Given the description of an element on the screen output the (x, y) to click on. 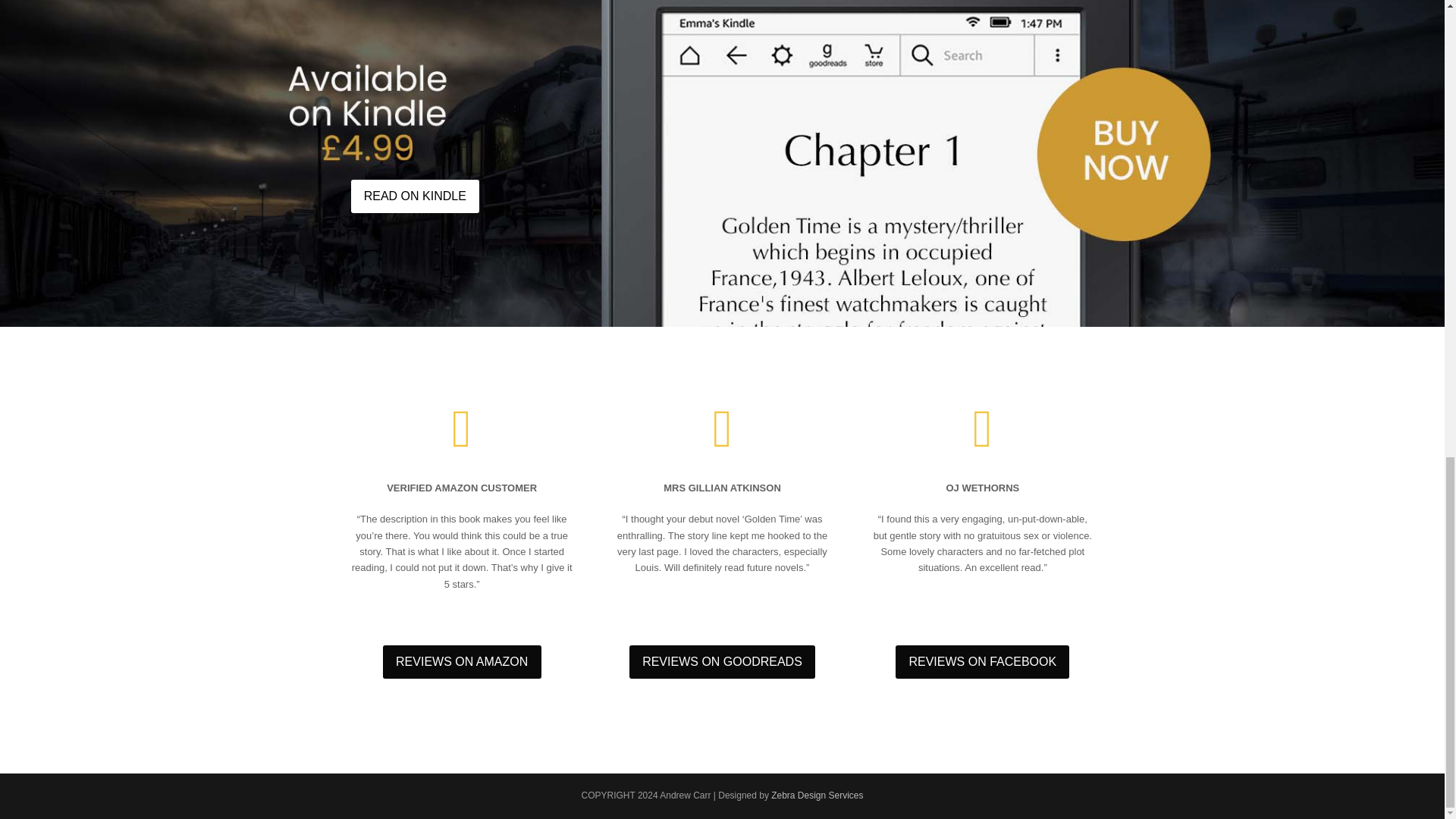
Designed by Zebra Design Services (817, 795)
REVIEWS ON AMAZON (461, 661)
Zebra Design Services (817, 795)
READ ON KINDLE (414, 195)
REVIEWS ON FACEBOOK (981, 661)
REVIEWS ON GOODREADS (721, 661)
